Given the description of an element on the screen output the (x, y) to click on. 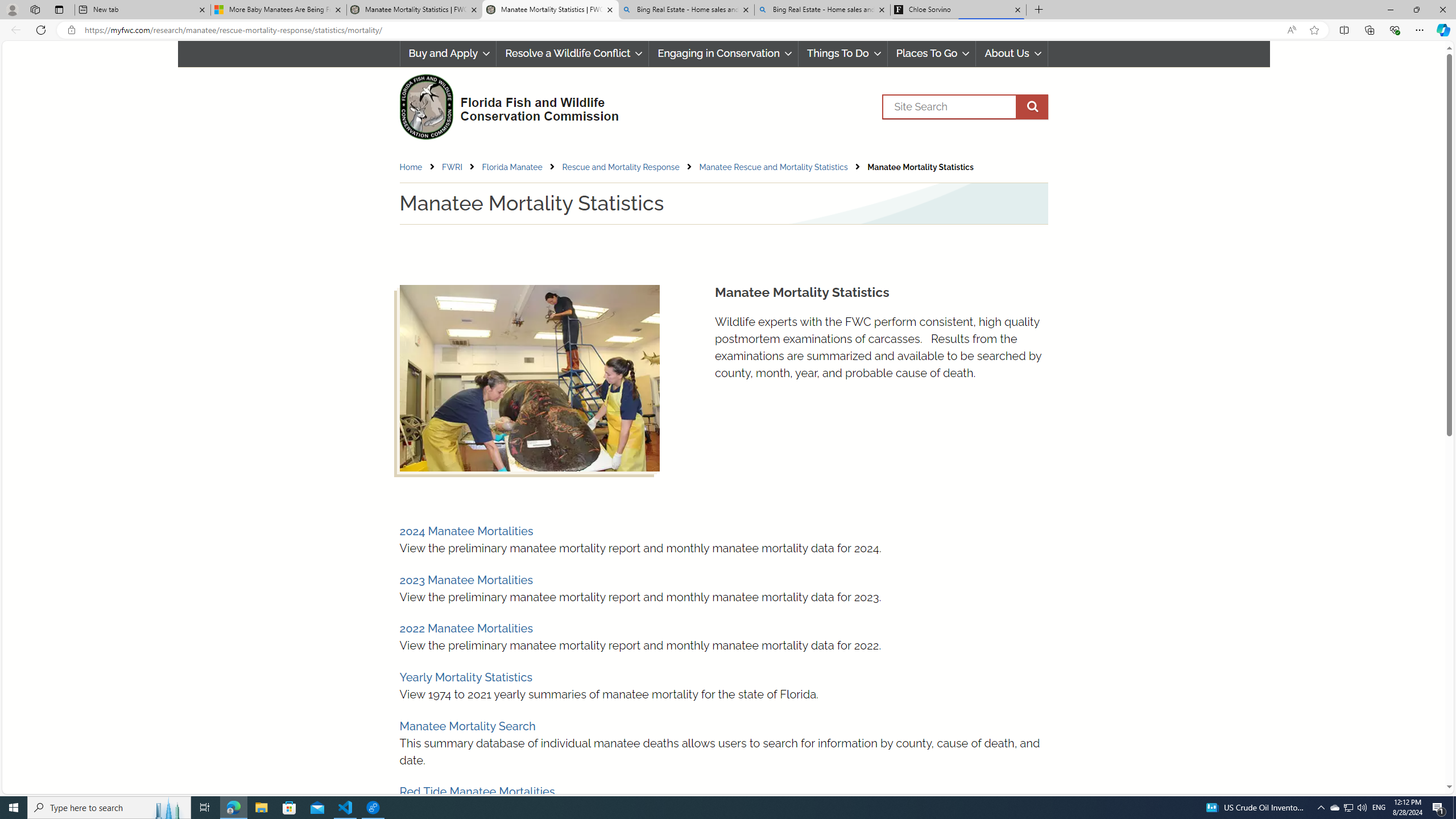
execute site search (1031, 106)
FWC Logo Florida Fish and Wildlife Conservation Commission (504, 104)
Engaging in Conservation (724, 53)
Manatee Rescue and Mortality Statistics (782, 166)
2024 Manatee Mortalities (465, 531)
Manatee Mortality Statistics | FWC (550, 9)
FWRI (461, 166)
Buy and Apply (448, 53)
Red Tide Manatee Mortalities (476, 791)
About Us (1011, 53)
Manatee Mortality Search (466, 726)
Chloe Sorvino (957, 9)
Search (964, 106)
